Given the description of an element on the screen output the (x, y) to click on. 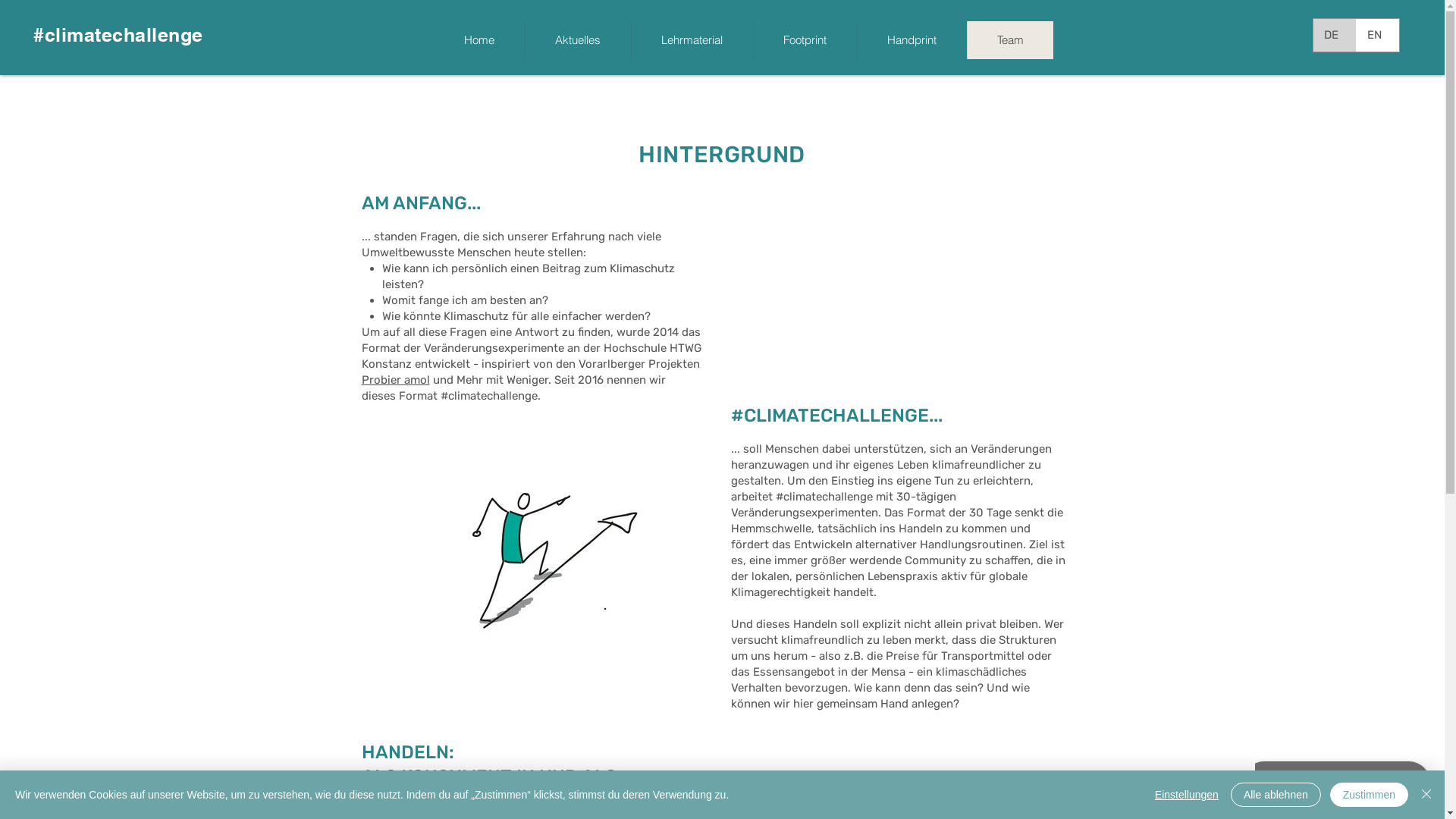
Zustimmen Element type: text (1369, 794)
EN Element type: text (1377, 34)
Footprint Element type: text (804, 40)
Handprint Element type: text (911, 40)
Aktuelles Element type: text (577, 40)
Alle ablehnen Element type: text (1275, 794)
image4.jpg Element type: hover (549, 557)
Probier amol Element type: text (394, 379)
#climatechallenge Element type: text (118, 34)
Home Element type: text (478, 40)
Lehrmaterial Element type: text (691, 40)
Team Element type: text (1009, 40)
DE Element type: text (1334, 34)
